Given the description of an element on the screen output the (x, y) to click on. 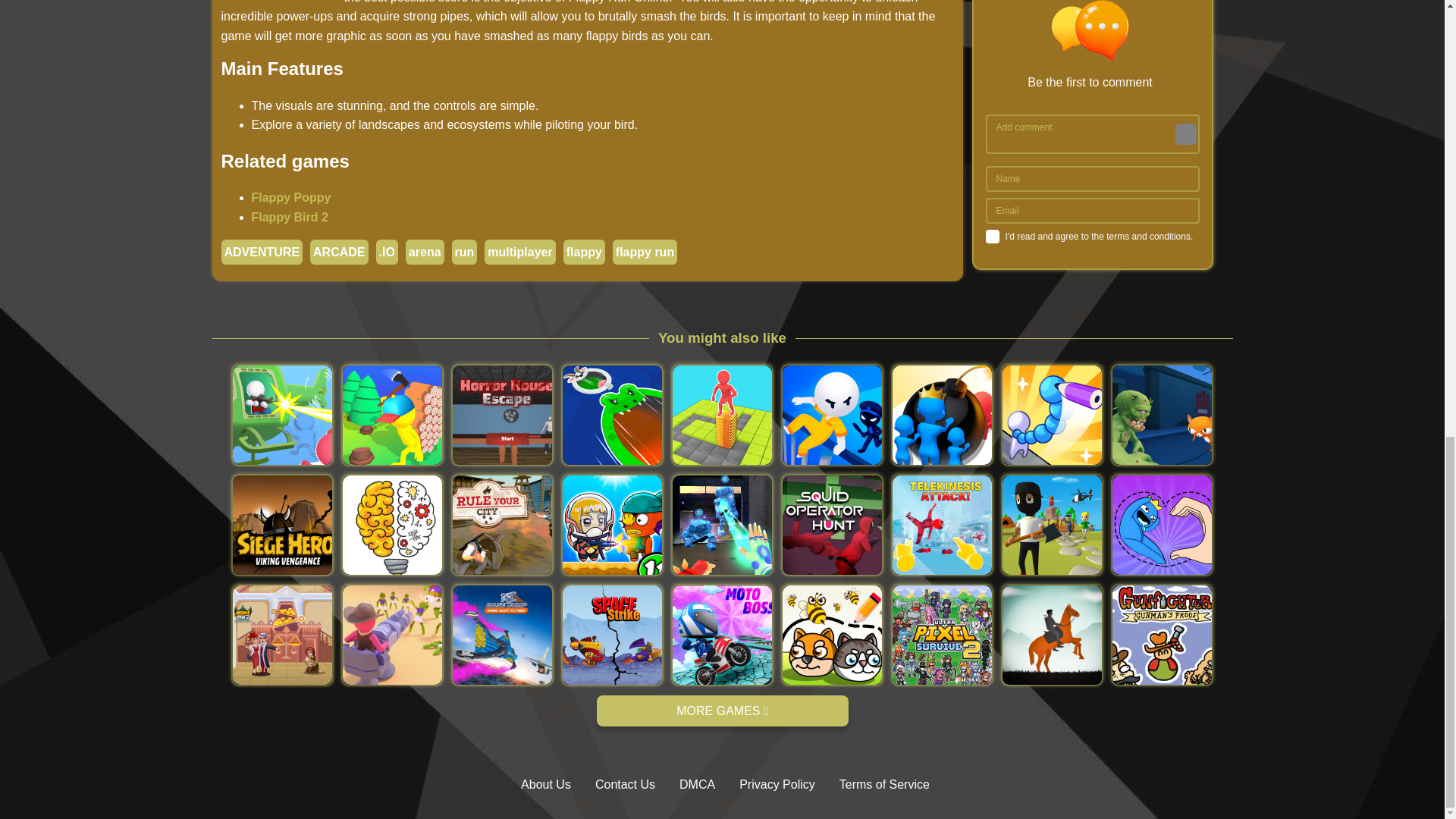
ADVENTURE (261, 251)
About Us (545, 784)
multiplayer (519, 251)
arena (425, 251)
flappy run (644, 251)
New Games (721, 711)
run (464, 251)
Flappy Bird 2 (290, 216)
flappy (584, 251)
Be the first to comment (1096, 45)
ARCADE (339, 251)
Flappy Poppy (291, 196)
